Given the description of an element on the screen output the (x, y) to click on. 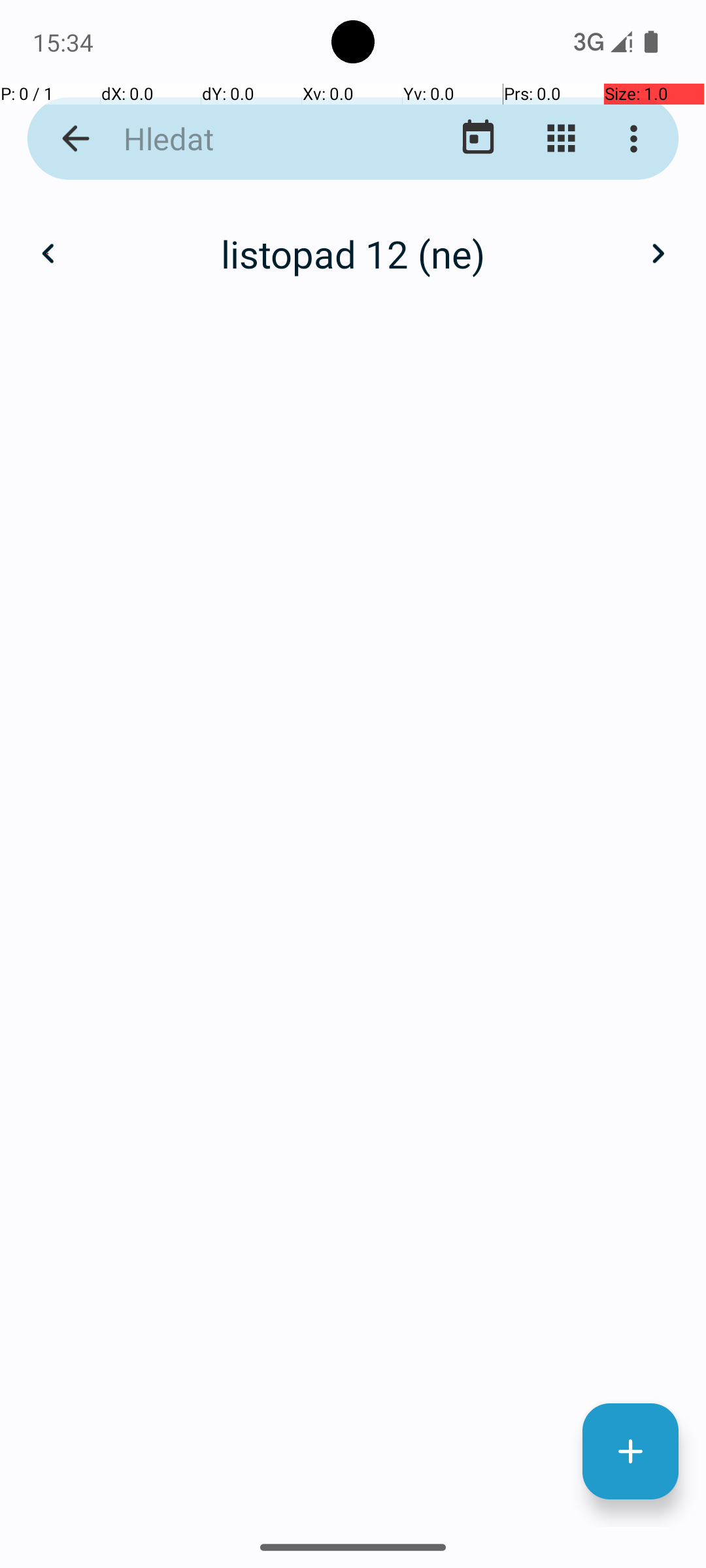
Hledat Element type: android.widget.EditText (252, 138)
Přejít na dnešní datum Element type: android.widget.Button (477, 138)
Změnit zobrazení Element type: android.widget.Button (560, 138)
Nová událost Element type: android.widget.ImageButton (630, 1451)
listopad Element type: android.widget.TextView (352, 239)
listopad 12 (ne) Element type: android.widget.TextView (352, 253)
